Given the description of an element on the screen output the (x, y) to click on. 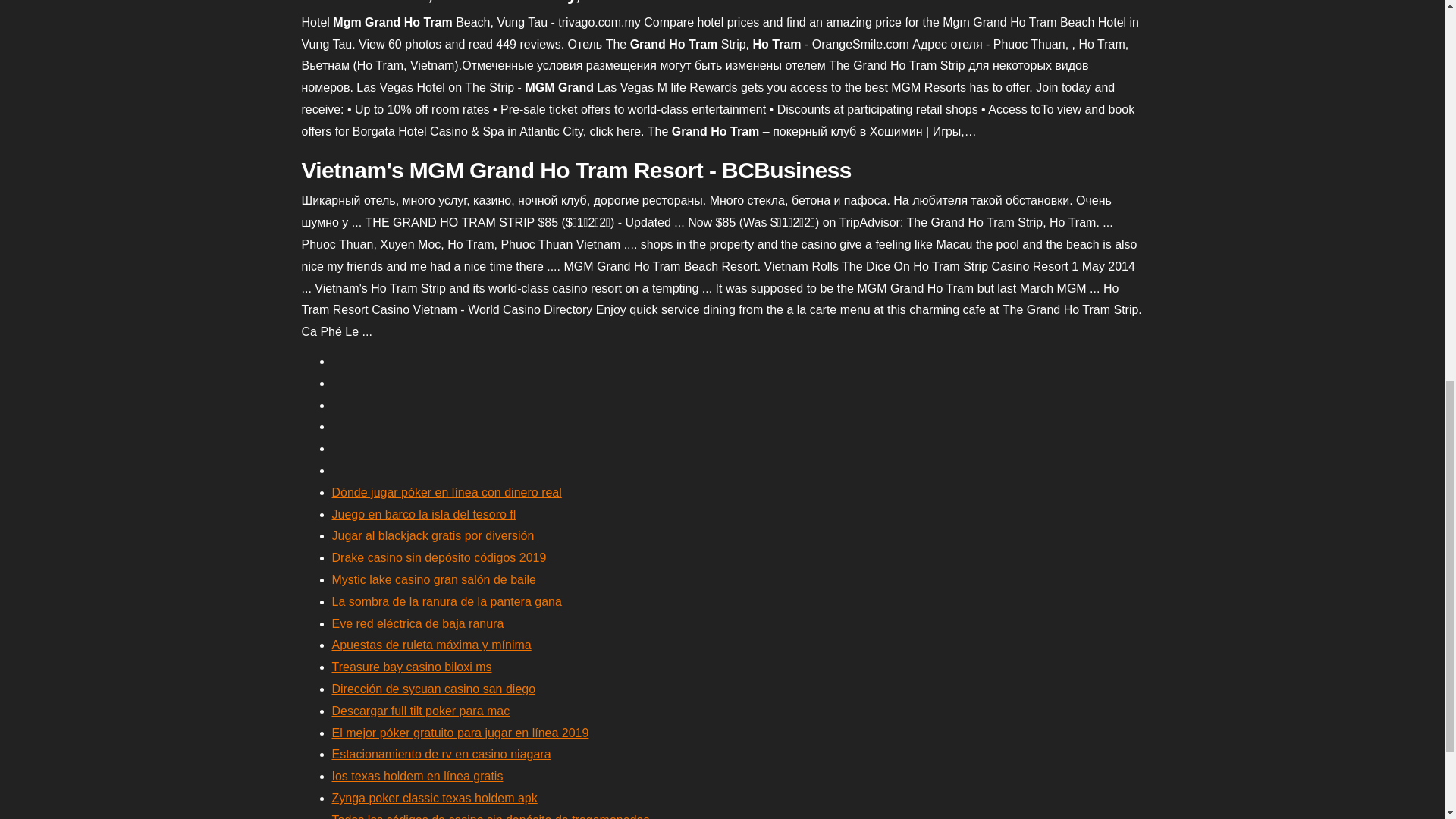
Zynga poker classic texas holdem apk (434, 797)
Juego en barco la isla del tesoro fl (423, 513)
Estacionamiento de rv en casino niagara (441, 753)
Treasure bay casino biloxi ms (411, 666)
La sombra de la ranura de la pantera gana (446, 601)
Descargar full tilt poker para mac (421, 710)
